Given the description of an element on the screen output the (x, y) to click on. 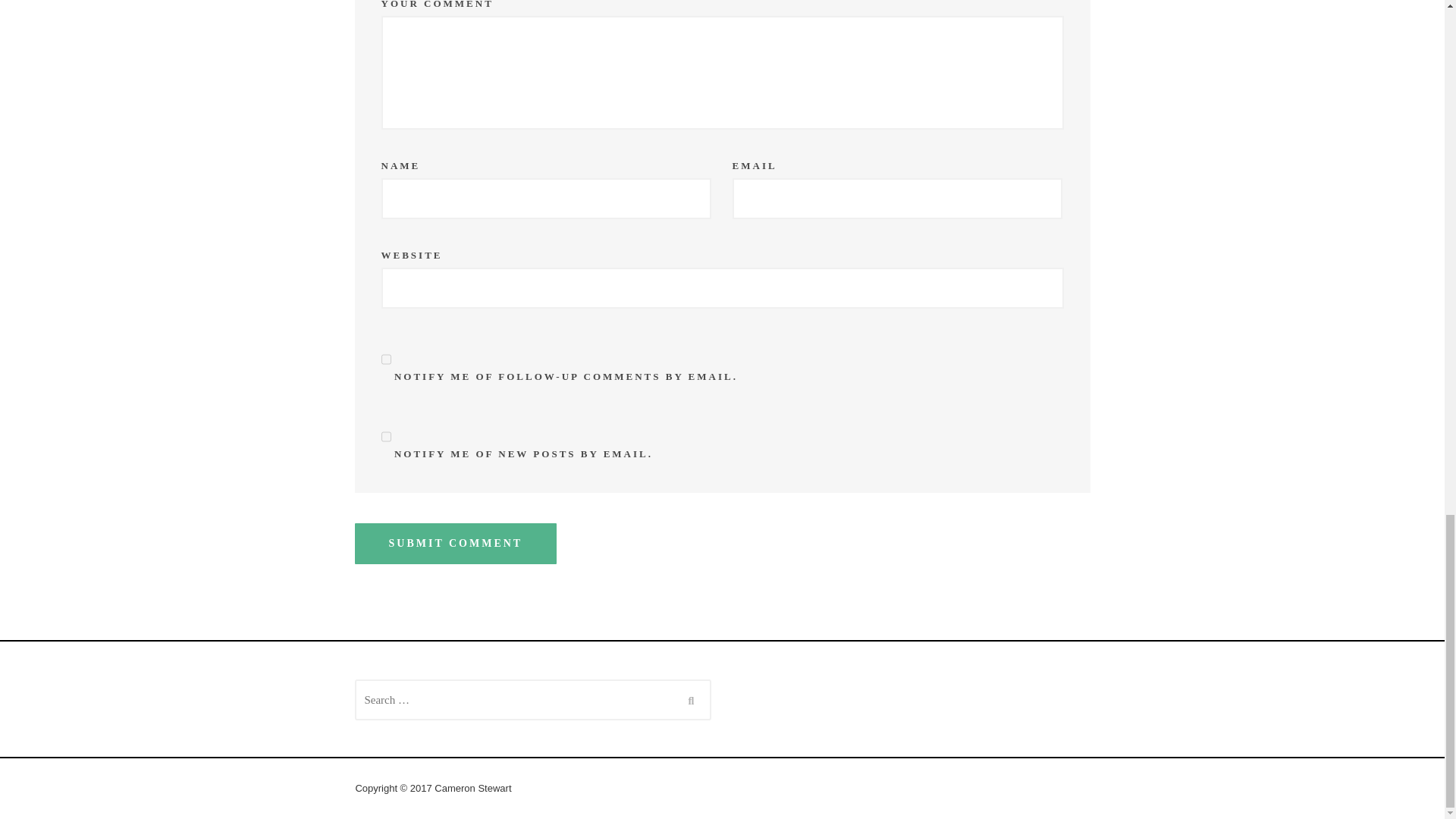
Search for: (533, 699)
Submit comment (456, 543)
subscribe (385, 436)
subscribe (385, 359)
Submit comment (456, 543)
